Given the description of an element on the screen output the (x, y) to click on. 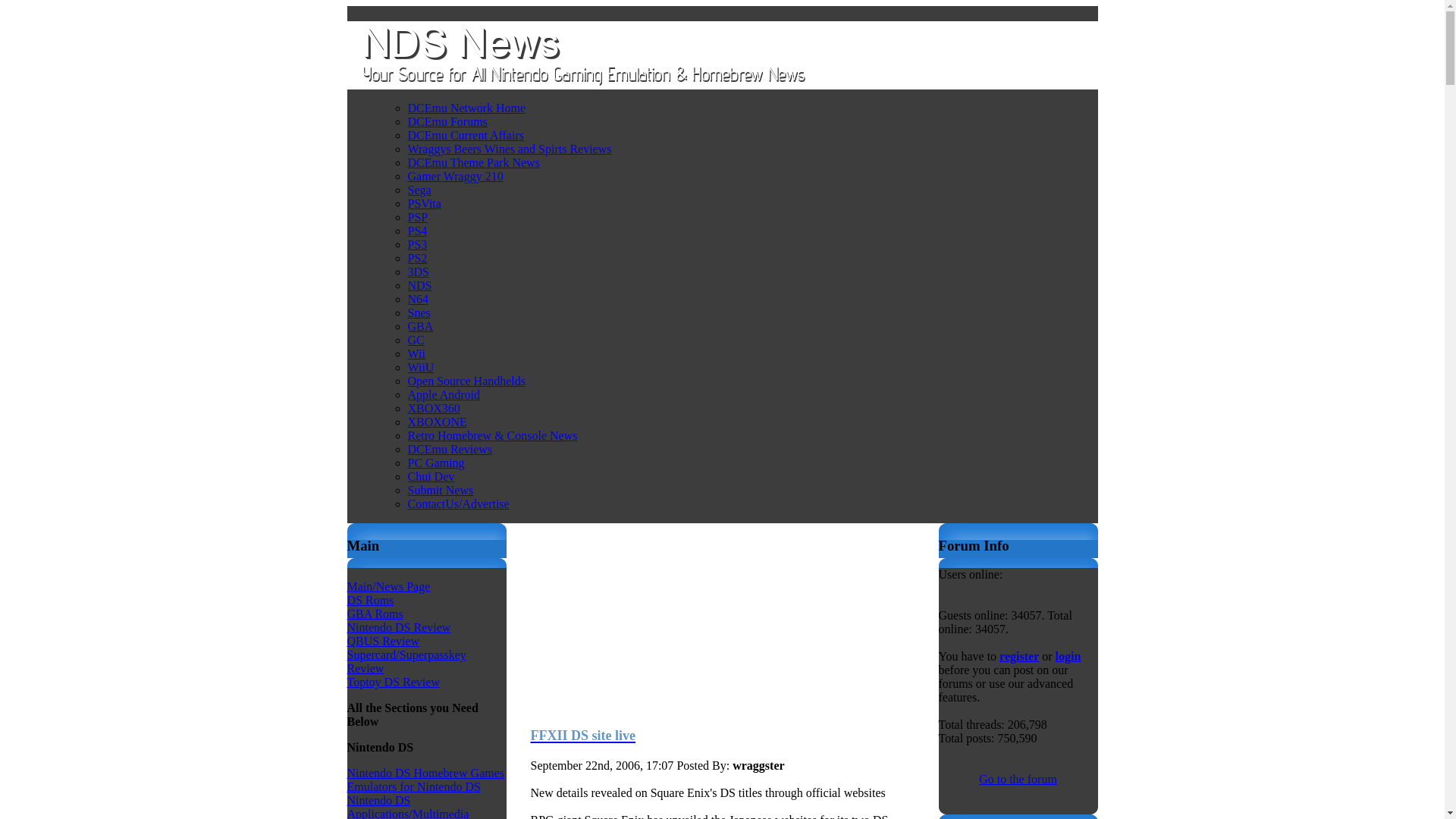
DCEmu Reviews (450, 449)
GBA Roms (375, 613)
Nintendo DS Homebrew Games (426, 772)
Wraggys Beers Wines and Spirts Reviews (509, 148)
PC Gaming (435, 462)
XBOXONE (437, 421)
NDS (419, 285)
PSP (417, 216)
PS3 (417, 244)
PS2 (417, 257)
GC (416, 339)
DCEmu Theme Park News (473, 162)
Nintendo DS Review (399, 626)
Toptoy DS Review (393, 681)
DCEmu Current Affairs (465, 134)
